Given the description of an element on the screen output the (x, y) to click on. 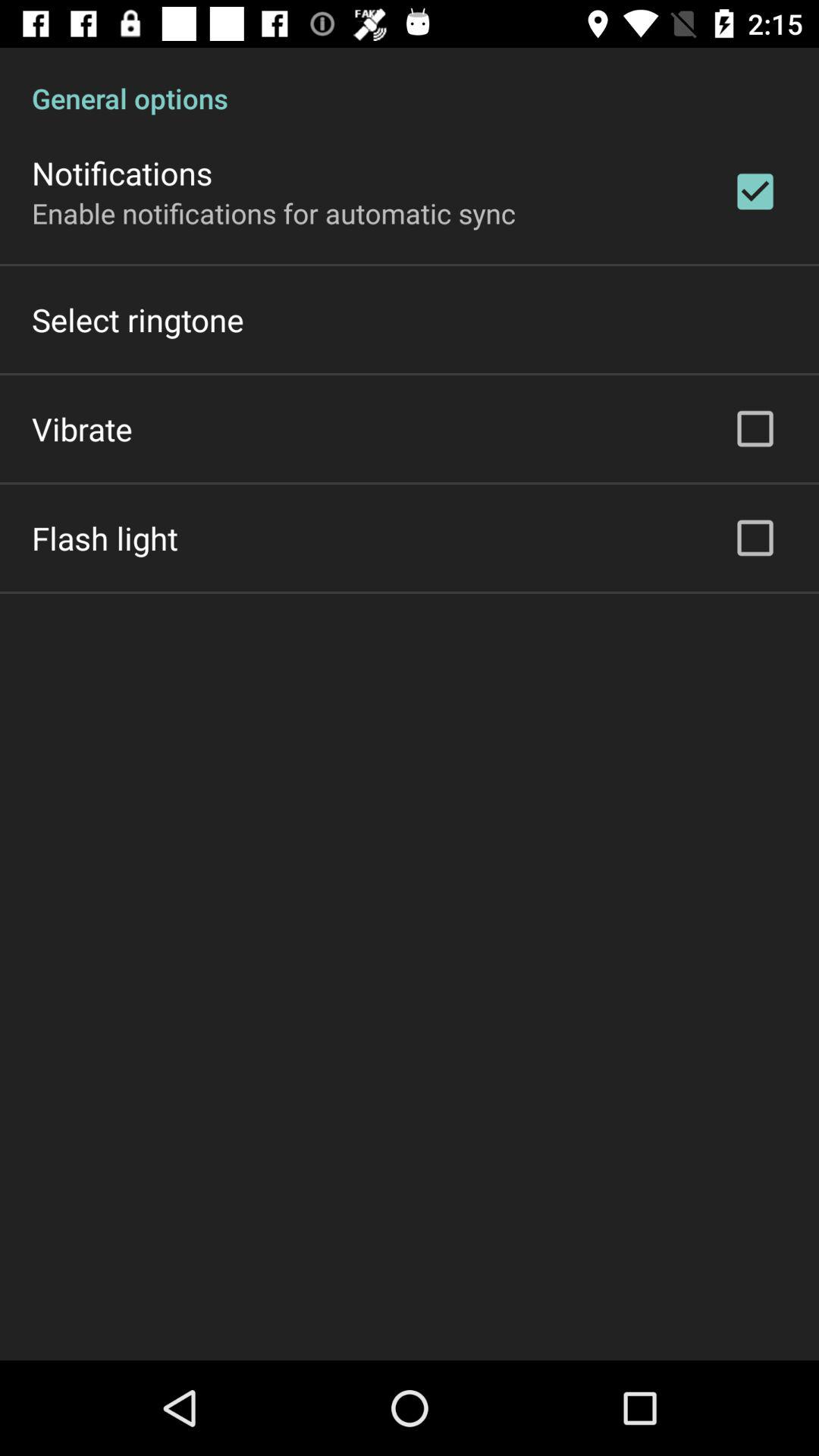
click the icon above notifications (409, 82)
